Given the description of an element on the screen output the (x, y) to click on. 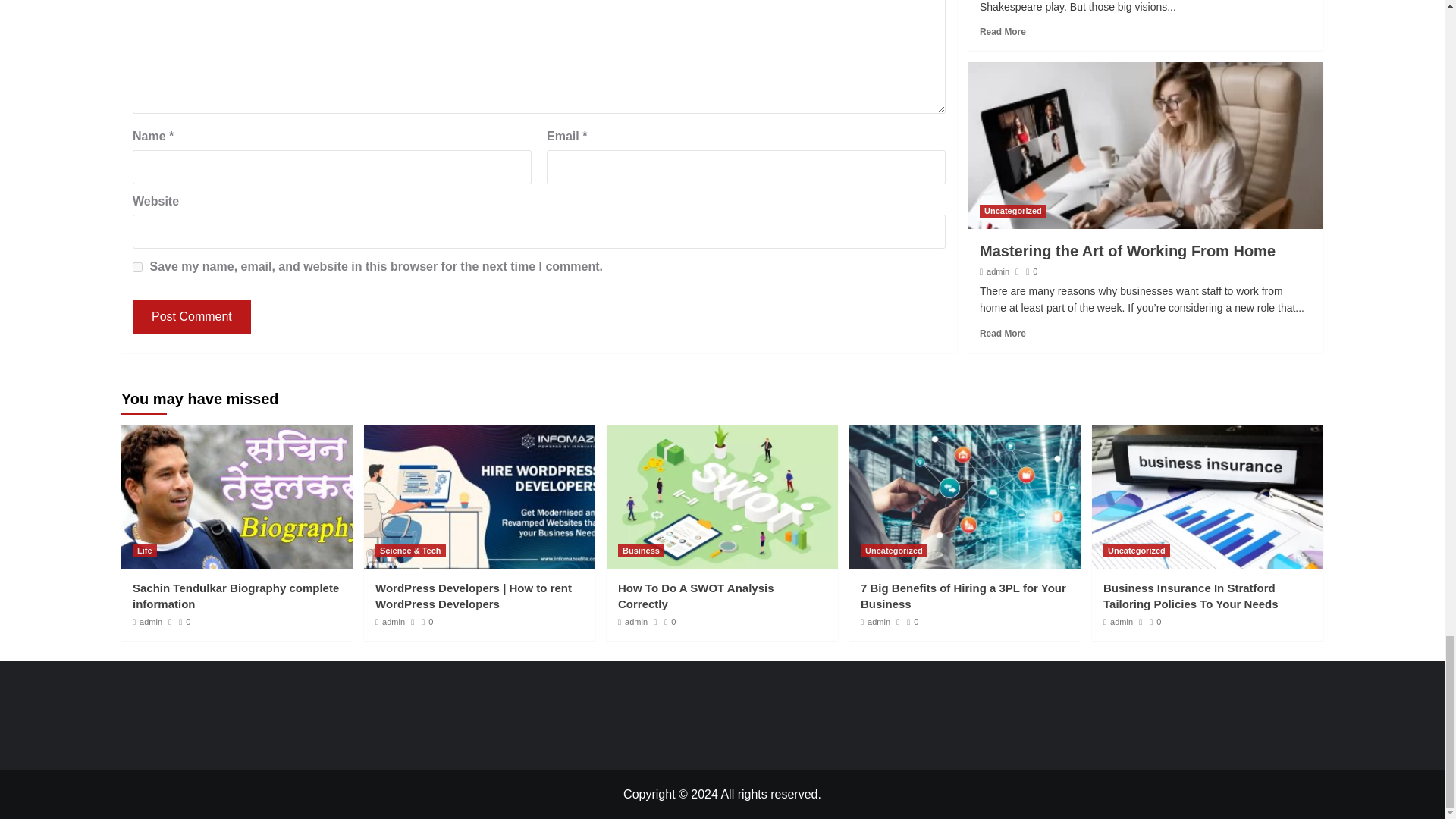
yes (137, 266)
Post Comment (191, 316)
